Given the description of an element on the screen output the (x, y) to click on. 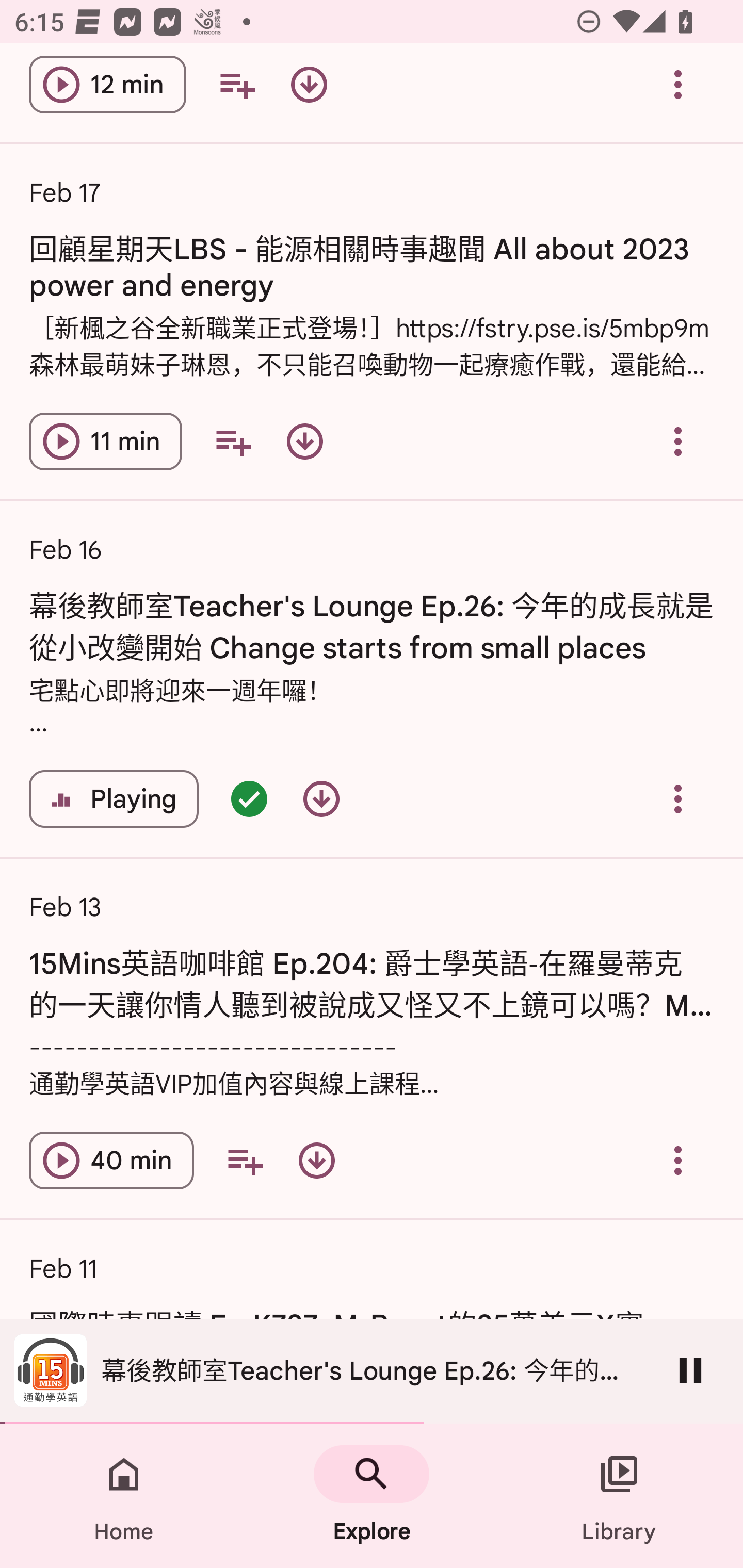
Add to your queue (236, 85)
Download episode (308, 85)
Overflow menu (677, 85)
Add to your queue (232, 441)
Download episode (304, 441)
Overflow menu (677, 441)
Episode queued - double tap for options (249, 798)
Download episode (321, 798)
Overflow menu (677, 798)
Add to your queue (244, 1160)
Download episode (316, 1160)
Overflow menu (677, 1160)
Pause (690, 1370)
Home (123, 1495)
Library (619, 1495)
